Given the description of an element on the screen output the (x, y) to click on. 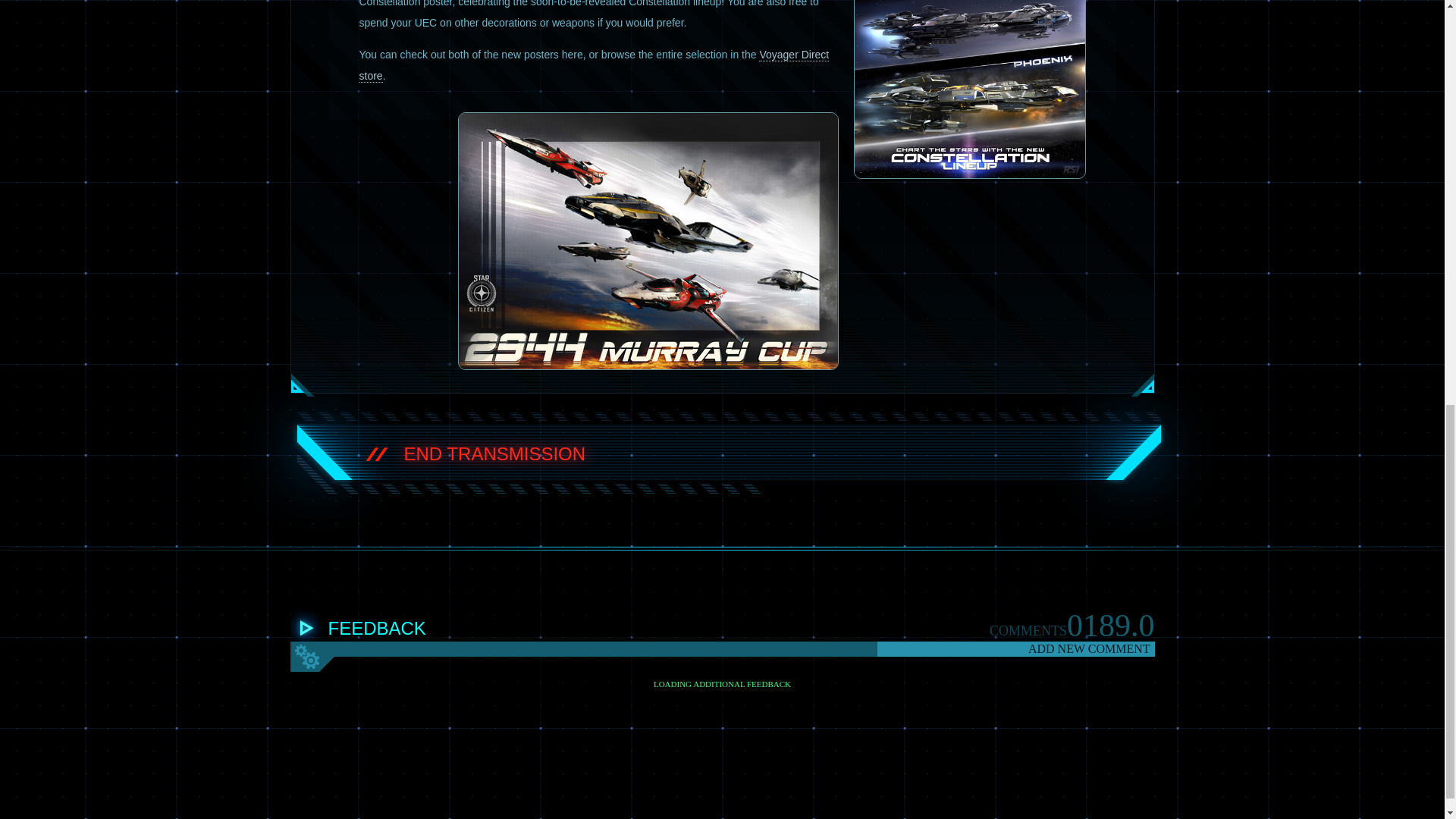
Voyager Direct store (594, 65)
ADD NEW COMMENT (1015, 648)
